Given the description of an element on the screen output the (x, y) to click on. 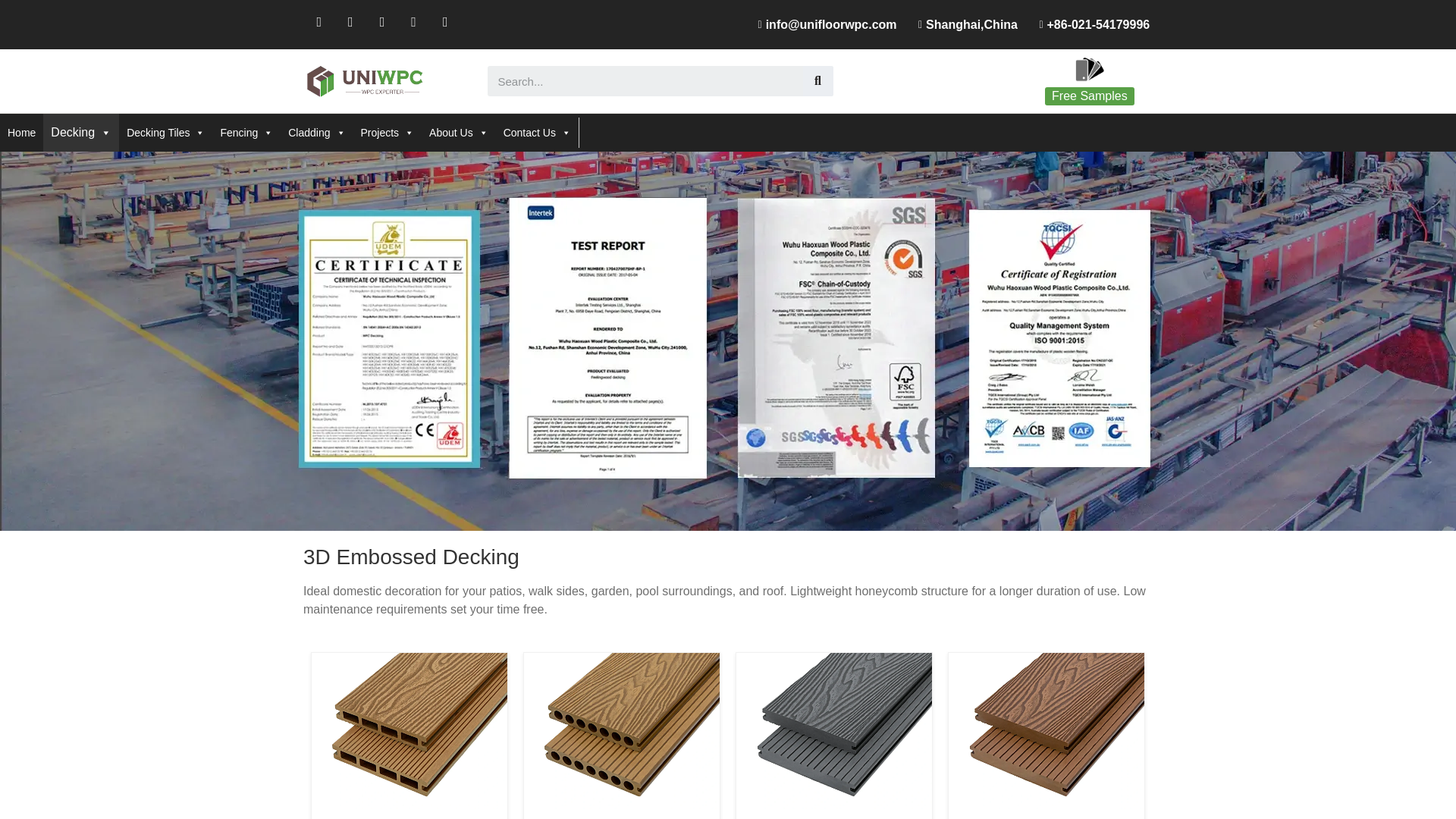
Decking (81, 132)
Decking Tiles (165, 132)
Search (644, 81)
Cladding (316, 132)
Home (21, 132)
Fencing (246, 132)
Free Samples (1088, 95)
Search (817, 81)
